Given the description of an element on the screen output the (x, y) to click on. 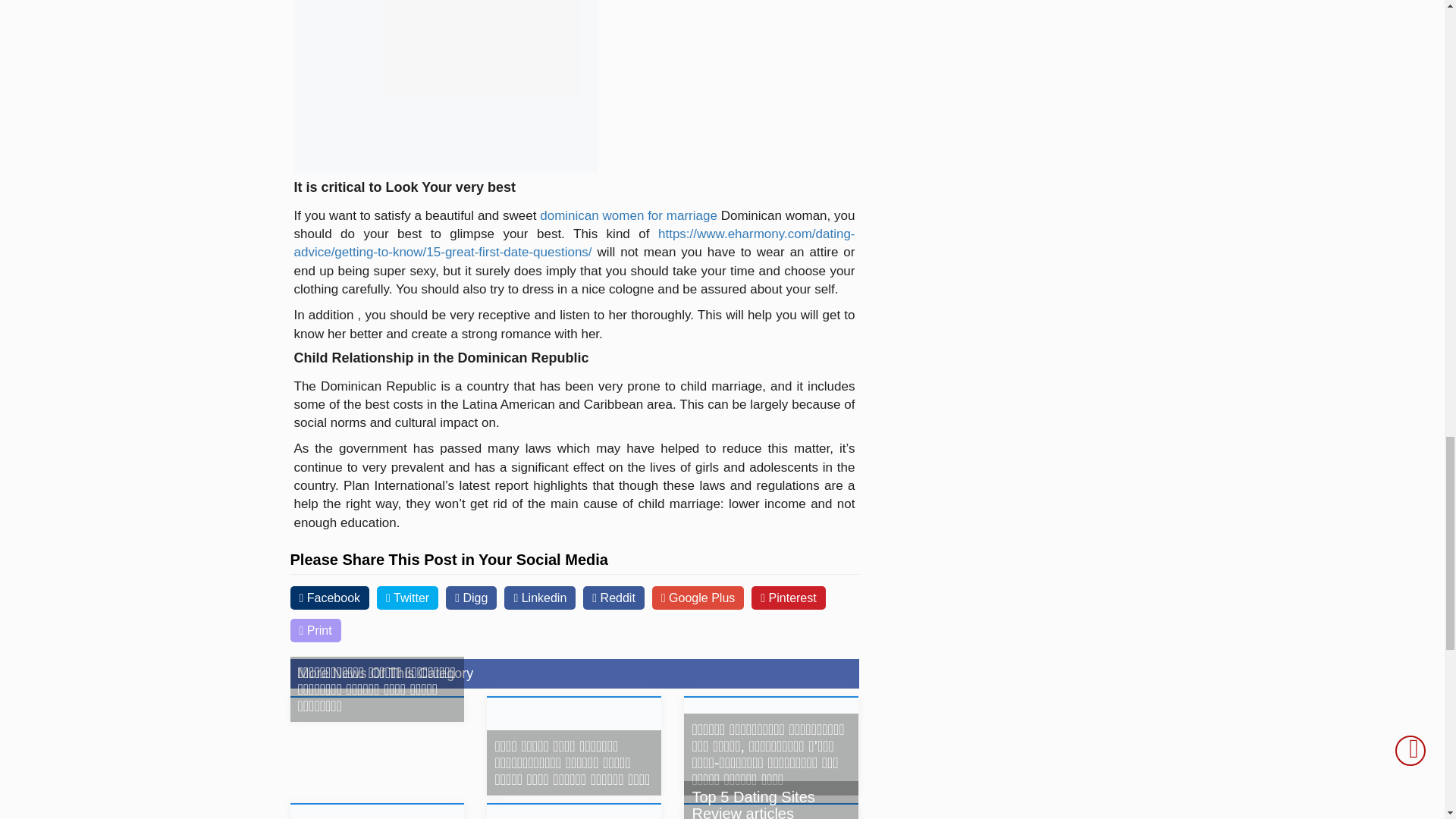
dominican women for marriage (628, 215)
Linkedin (539, 597)
Reddit (614, 597)
Facebook (329, 597)
Twitter (407, 597)
Digg (470, 597)
